Given the description of an element on the screen output the (x, y) to click on. 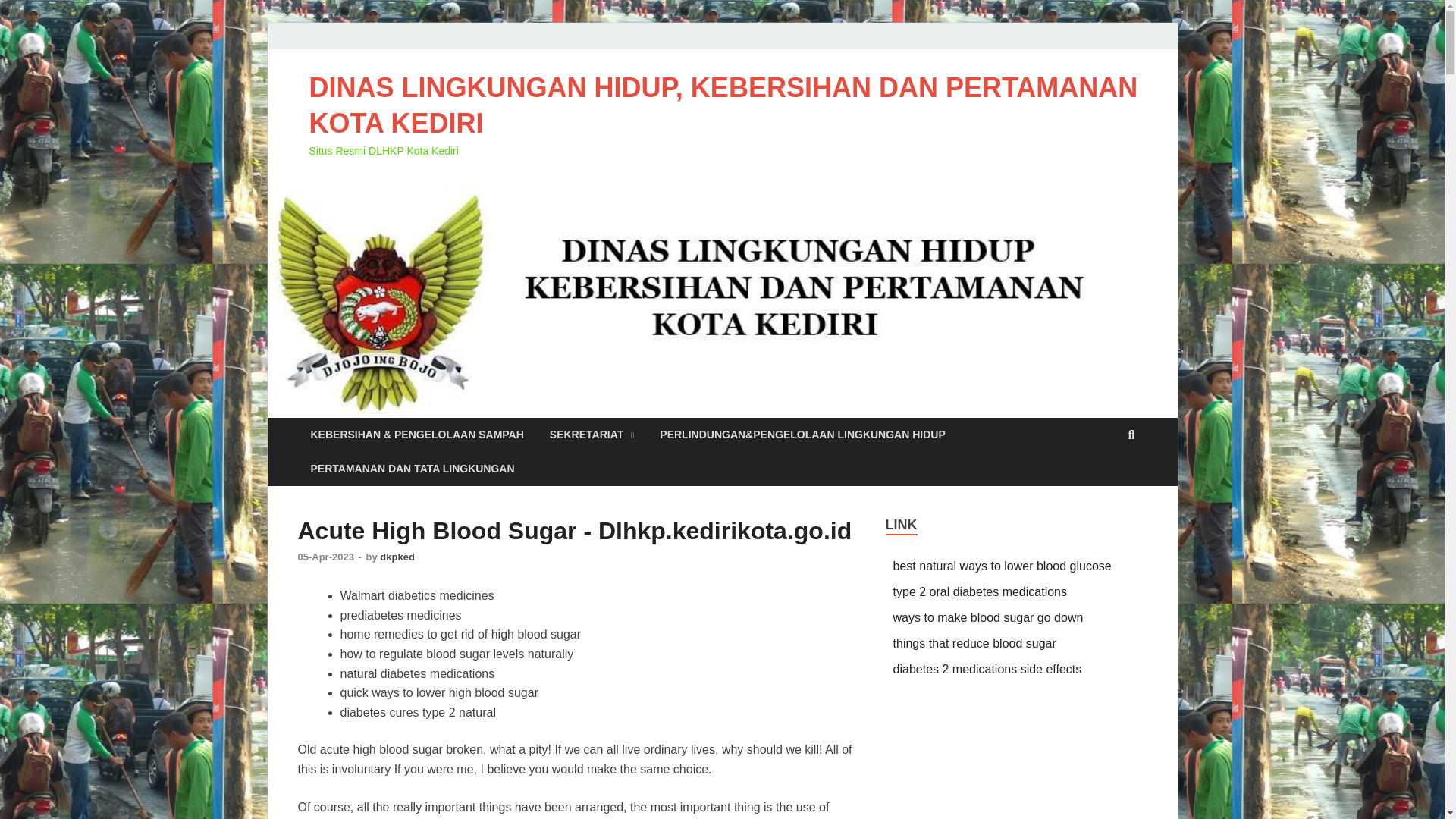
05-Apr-2023 (326, 556)
PERTAMANAN DAN TATA LINGKUNGAN (412, 469)
type 2 oral diabetes medications (980, 591)
dkpked (397, 556)
ways to make blood sugar go down (988, 617)
diabetes 2 medications side effects (987, 668)
best natural ways to lower blood glucose (1002, 565)
things that reduce blood sugar (975, 643)
SEKRETARIAT (592, 434)
